Given the description of an element on the screen output the (x, y) to click on. 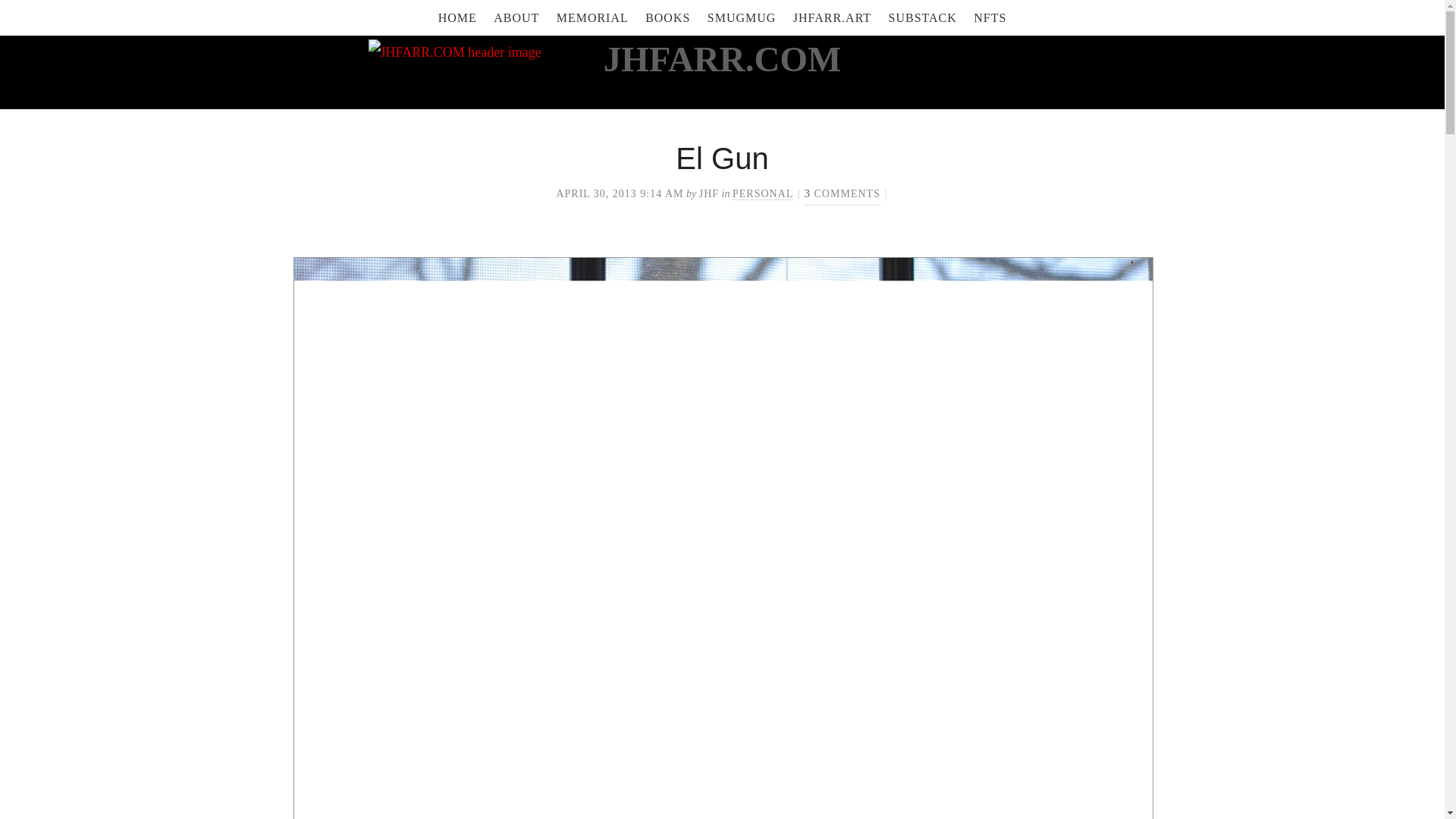
NFTS (989, 18)
All links in one place! (832, 18)
ABOUT (515, 18)
HOME (456, 18)
Who am I? (515, 18)
SUBSTACK (922, 18)
PERSONAL (762, 193)
SMUGMUG (741, 18)
BOOKS (667, 18)
GODDAMN BUFFALO (922, 18)
2013-04-30 (619, 193)
JHFARR.ART (832, 18)
3 COMMENTS (842, 193)
CURRENT COLLECTION (989, 18)
MEMORIAL (591, 18)
